Given the description of an element on the screen output the (x, y) to click on. 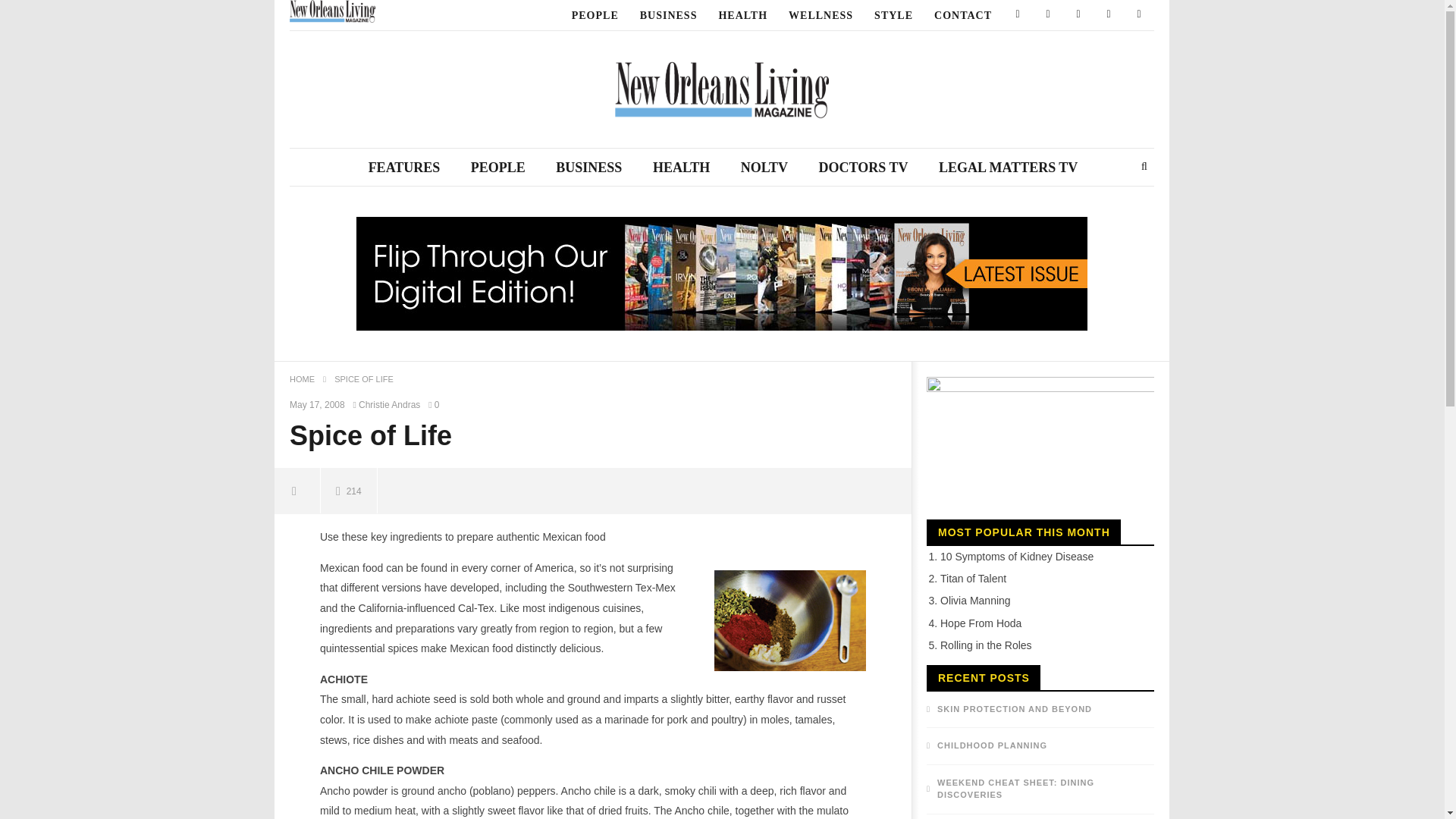
Twitter (1047, 15)
Facebook (1017, 15)
Pinterest (1077, 15)
BUSINESS (667, 15)
CONTACT (963, 15)
Instagram (1108, 15)
WELLNESS (820, 15)
HEALTH (742, 15)
Posts by Christie Andras (389, 404)
Vimeo (1139, 15)
